Given the description of an element on the screen output the (x, y) to click on. 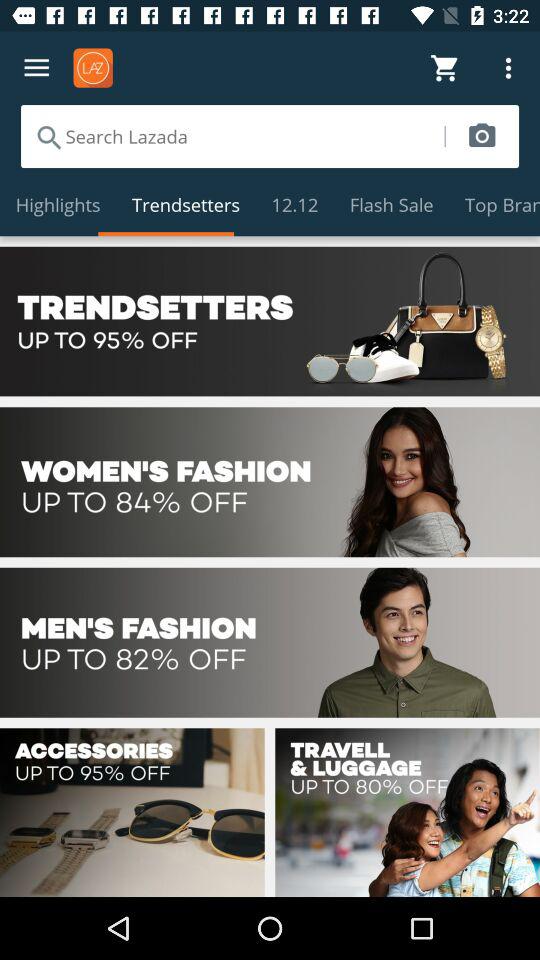
open native camera (482, 136)
